Given the description of an element on the screen output the (x, y) to click on. 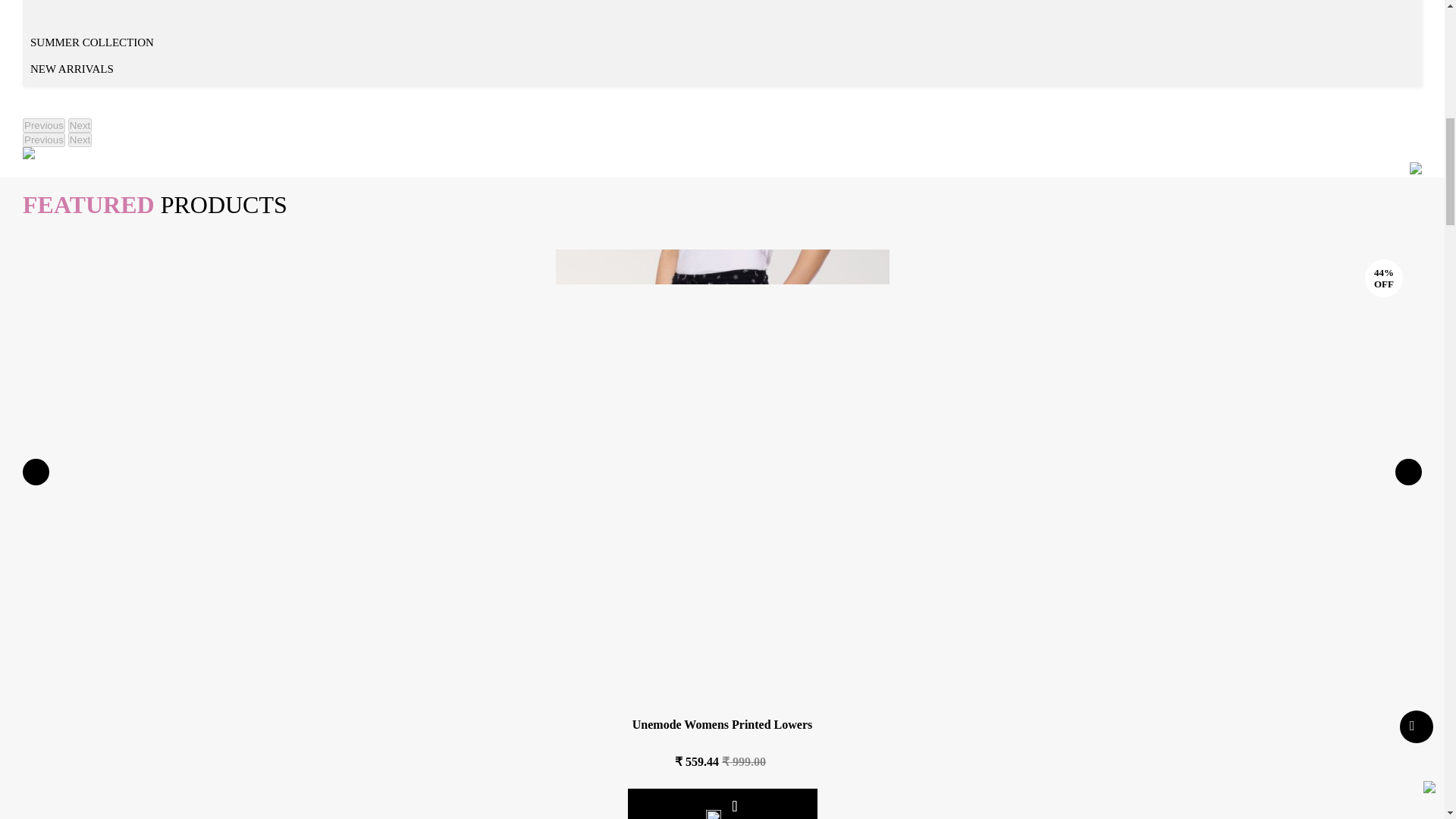
Previous (44, 139)
SUMMER COLLECTION (92, 42)
NEW ARRIVALS (71, 69)
Next (79, 139)
Next (79, 124)
Previous (44, 124)
